Given the description of an element on the screen output the (x, y) to click on. 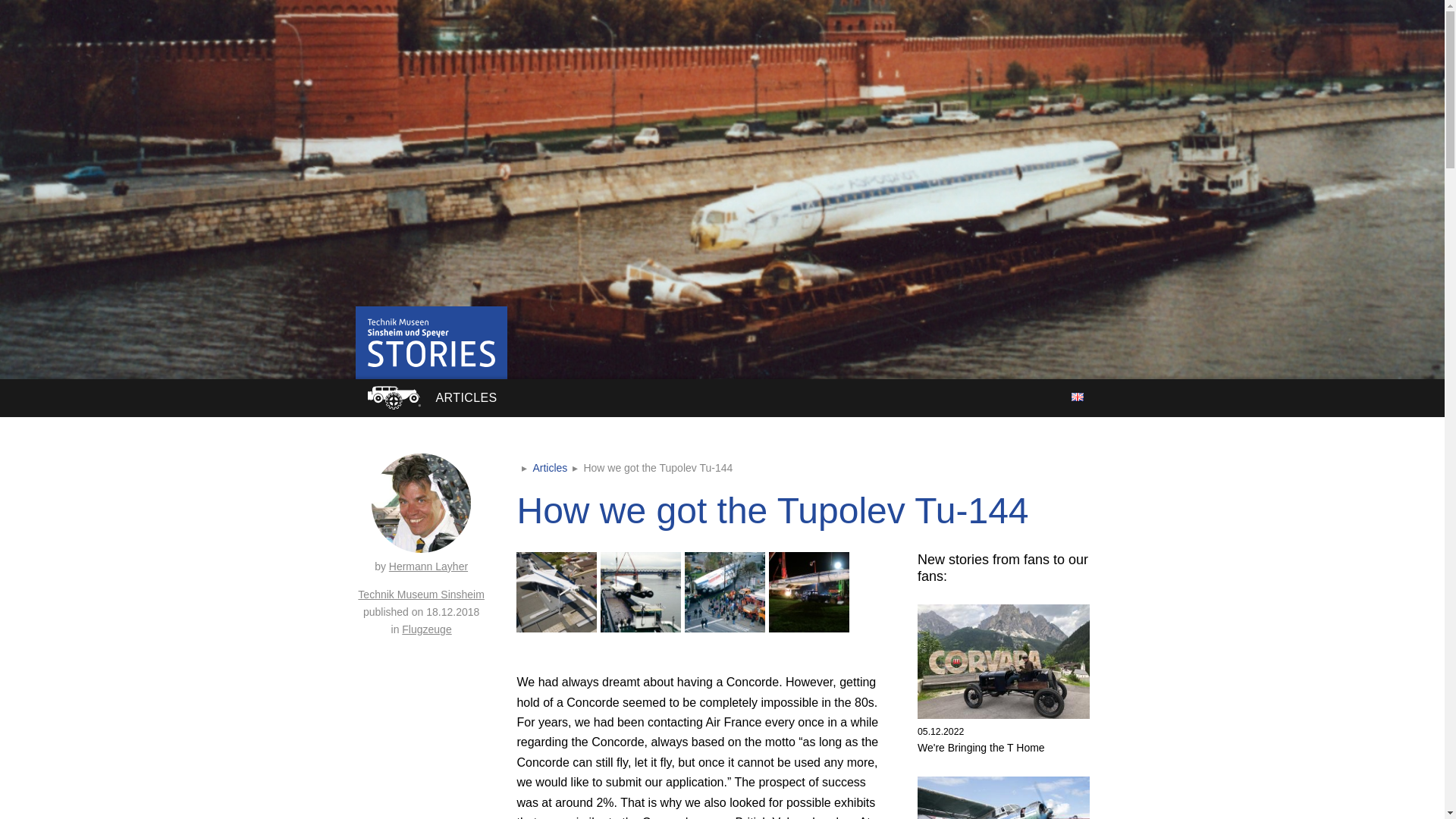
Technik Museum Sinsheim (421, 594)
Zur Startseite (393, 397)
Articles (549, 467)
Alle Artikel von Hermann Layher (420, 514)
by Hermann Layher (420, 514)
ARTICLES (465, 397)
Zur Startseite (430, 342)
Flugzeuge (426, 629)
Alle Artikel mit dem Standort Technik Museum Sinsheim (1003, 732)
